Given the description of an element on the screen output the (x, y) to click on. 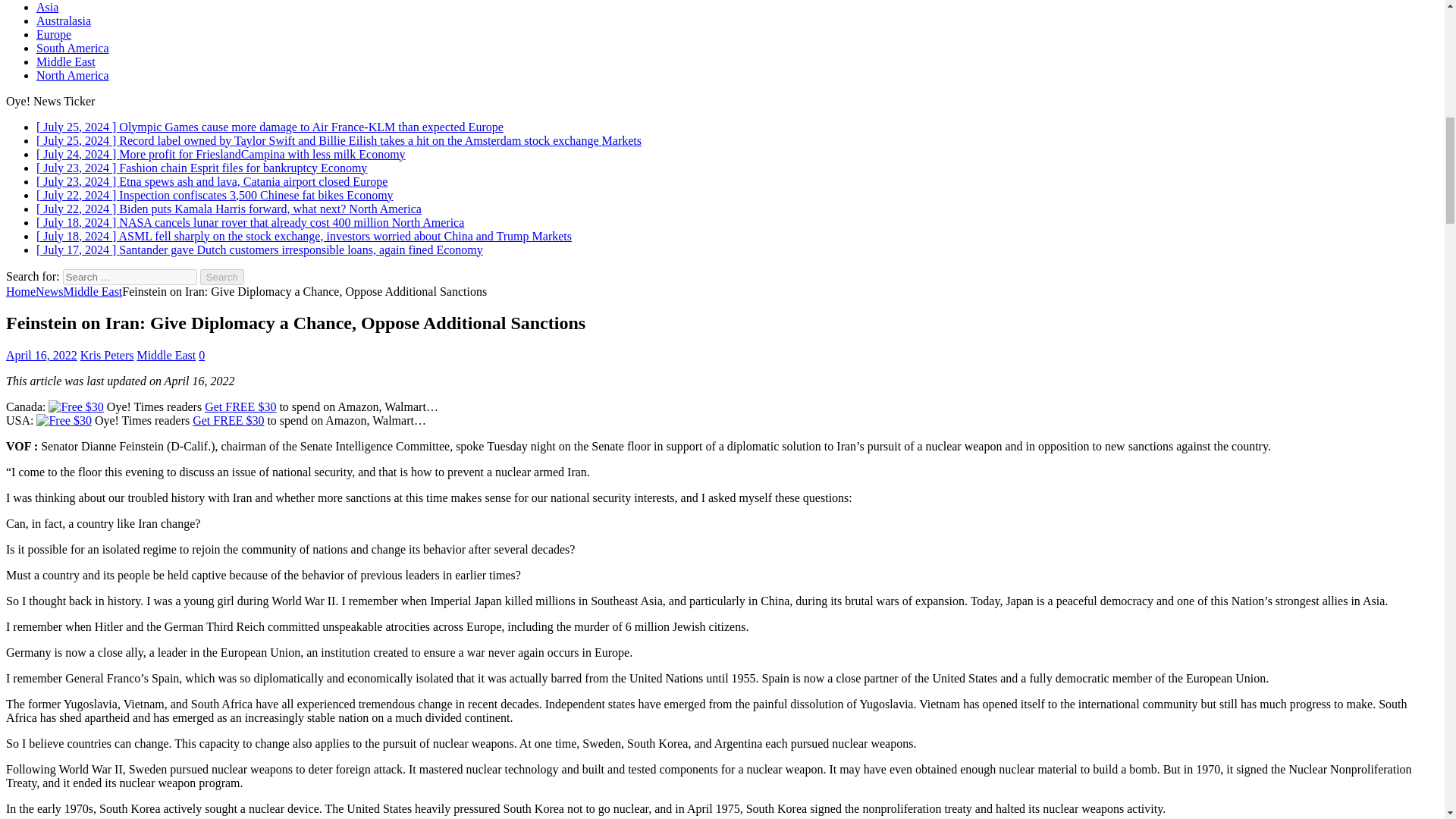
NASA cancels lunar rover that already cost 400 million (250, 222)
Etna spews ash and lava, Catania airport closed (211, 181)
More profit for FrieslandCampina with less milk (221, 154)
Search (222, 277)
Search (222, 277)
Biden puts Kamala Harris forward, what next? (229, 208)
Fashion chain Esprit files for bankruptcy (201, 167)
Inspection confiscates 3,500 Chinese fat bikes (214, 195)
